Given the description of an element on the screen output the (x, y) to click on. 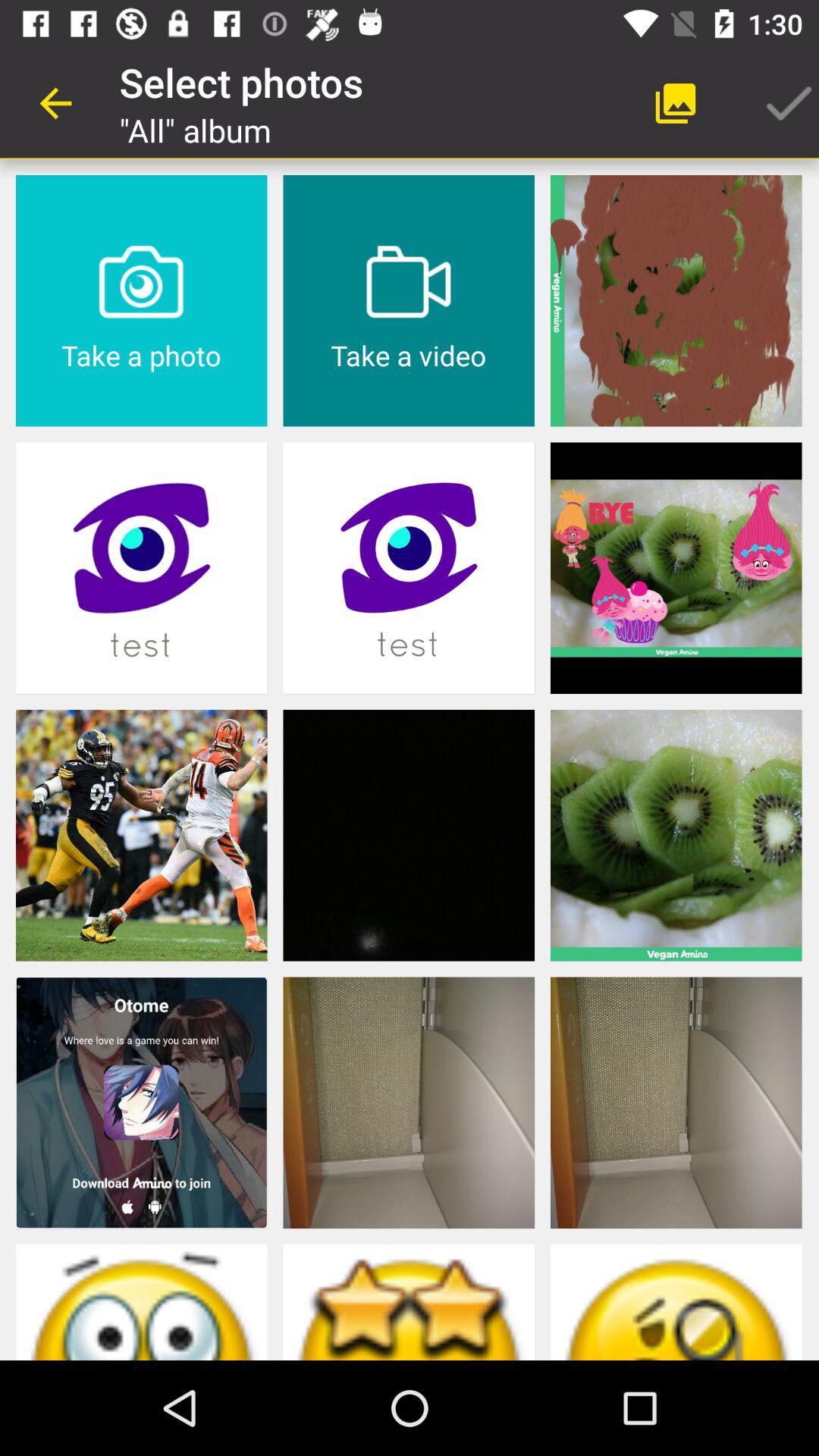
choose the item next to select photos app (55, 103)
